Given the description of an element on the screen output the (x, y) to click on. 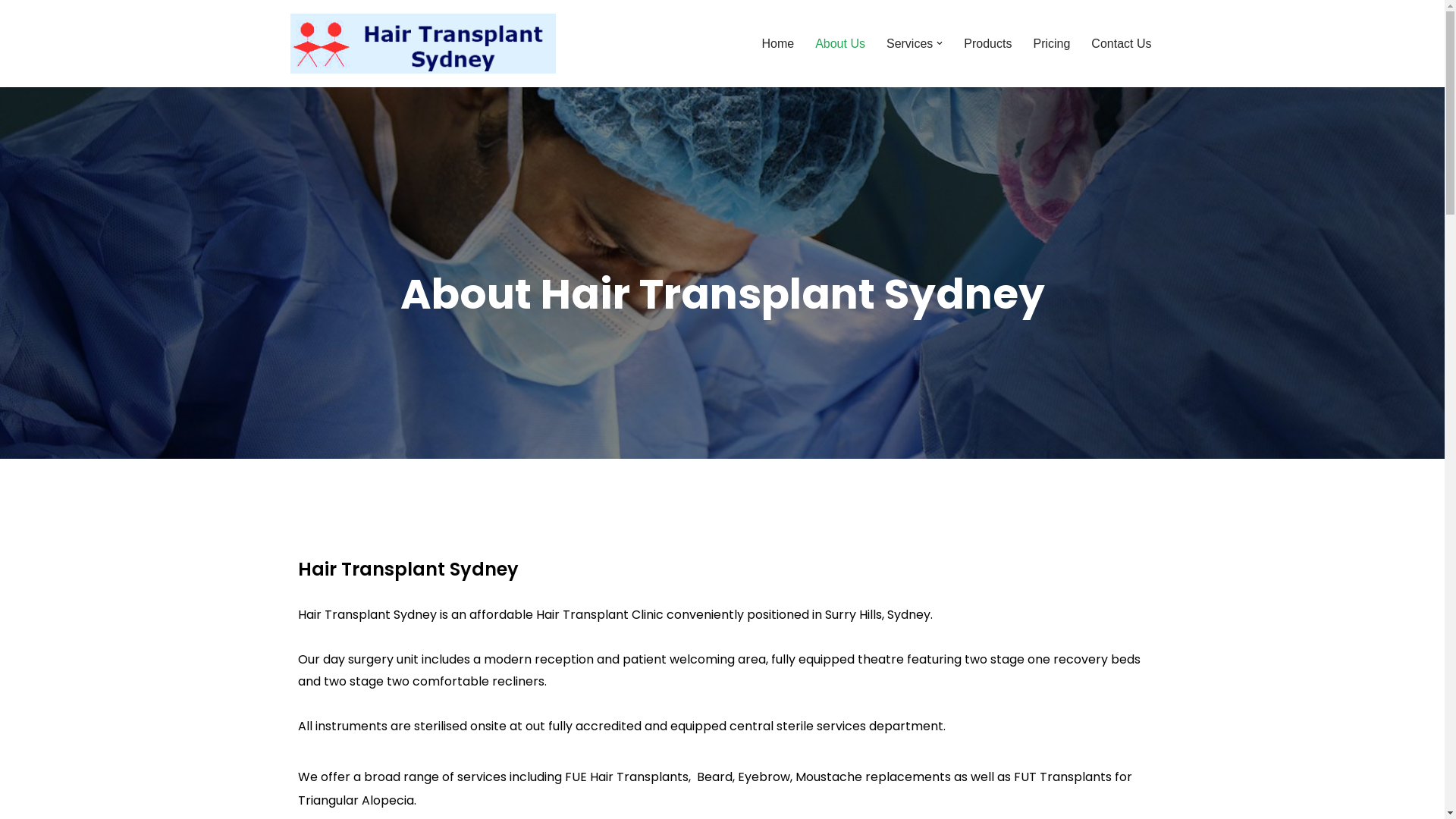
Contact Us Element type: text (1121, 43)
Home Element type: text (777, 43)
Pricing Element type: text (1051, 43)
Skip to content Element type: text (11, 31)
Services Element type: text (909, 43)
About Us Element type: text (840, 43)
Products Element type: text (987, 43)
